Given the description of an element on the screen output the (x, y) to click on. 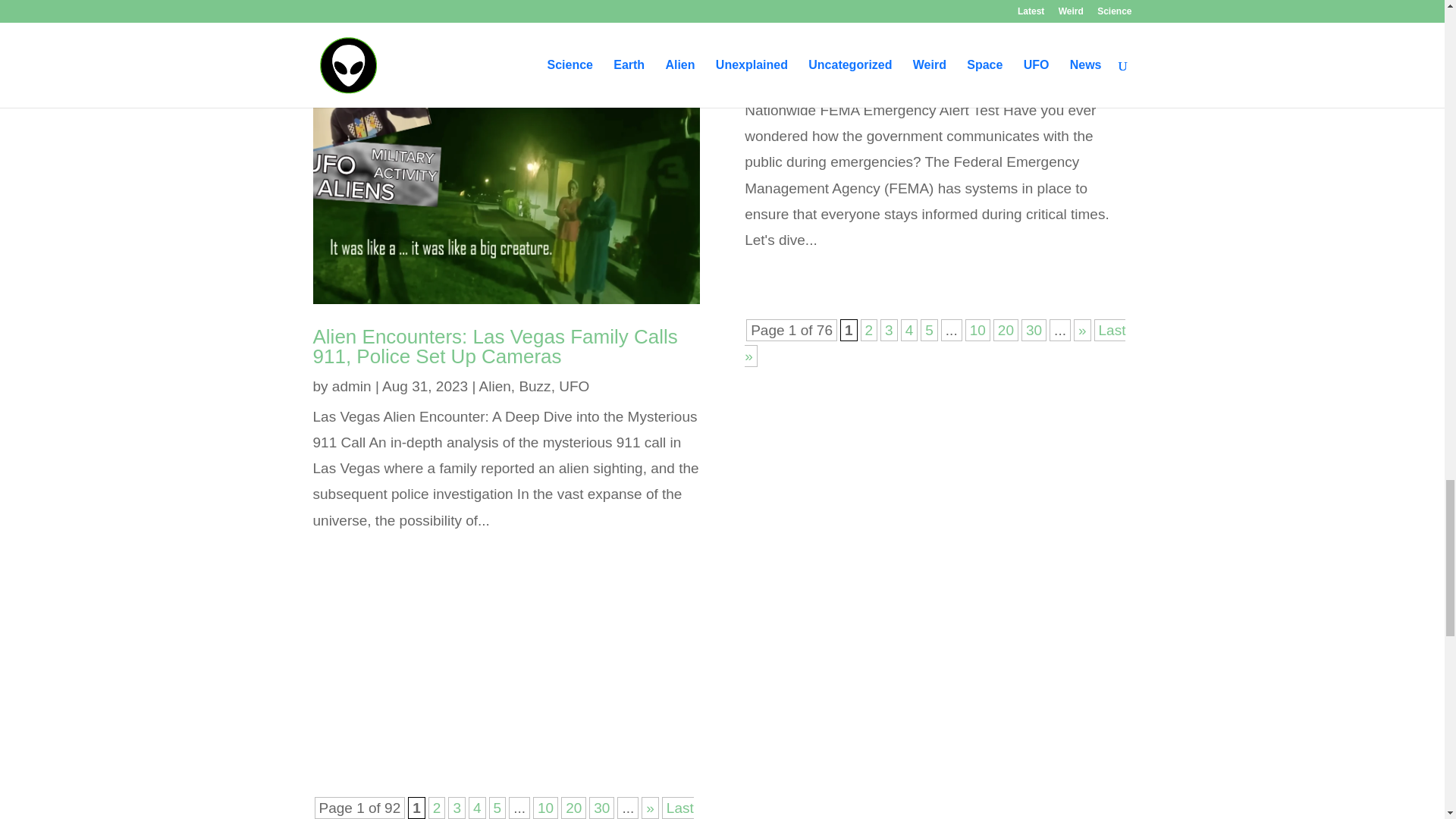
UFO (574, 385)
Advertisement (506, 692)
20 (573, 807)
Buzz (534, 385)
admin (351, 385)
Posts by admin (351, 385)
10 (544, 807)
Alien (495, 385)
